Given the description of an element on the screen output the (x, y) to click on. 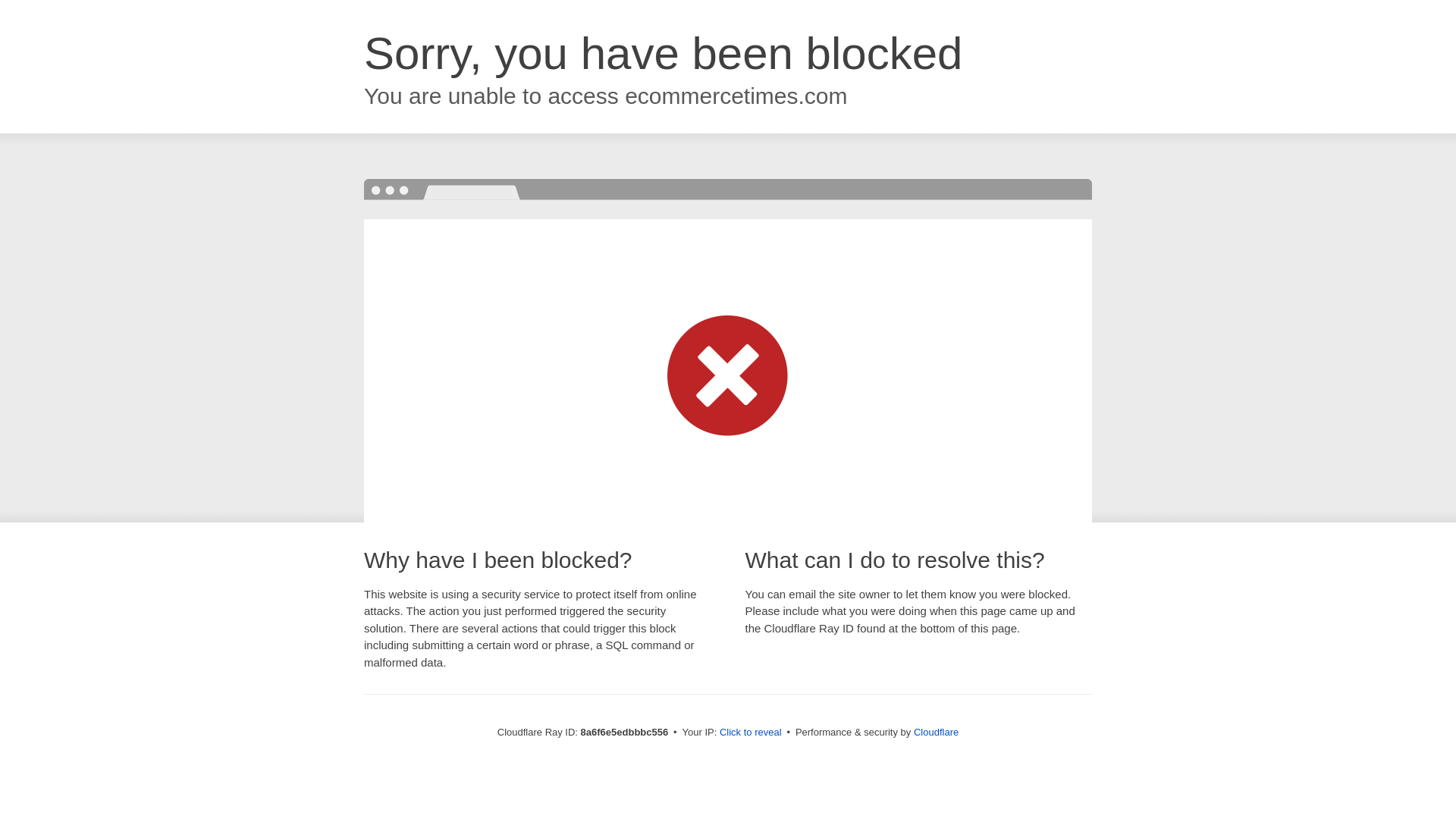
Cloudflare (936, 731)
Click to reveal (750, 732)
